Given the description of an element on the screen output the (x, y) to click on. 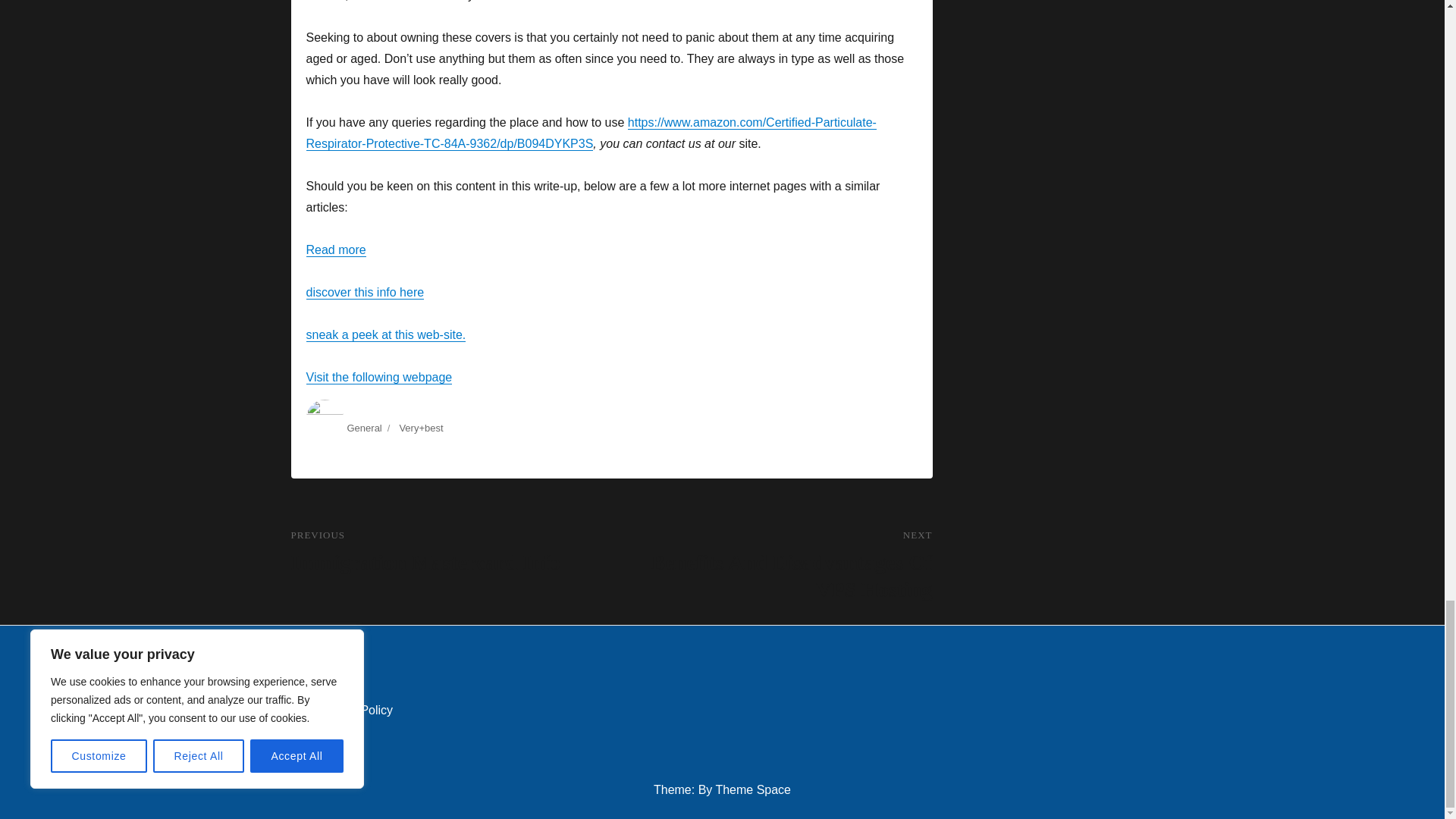
Read more (451, 551)
General (335, 249)
Visit the following webpage (364, 428)
sneak a peek at this web-site. (771, 565)
discover this info here (378, 377)
